Given the description of an element on the screen output the (x, y) to click on. 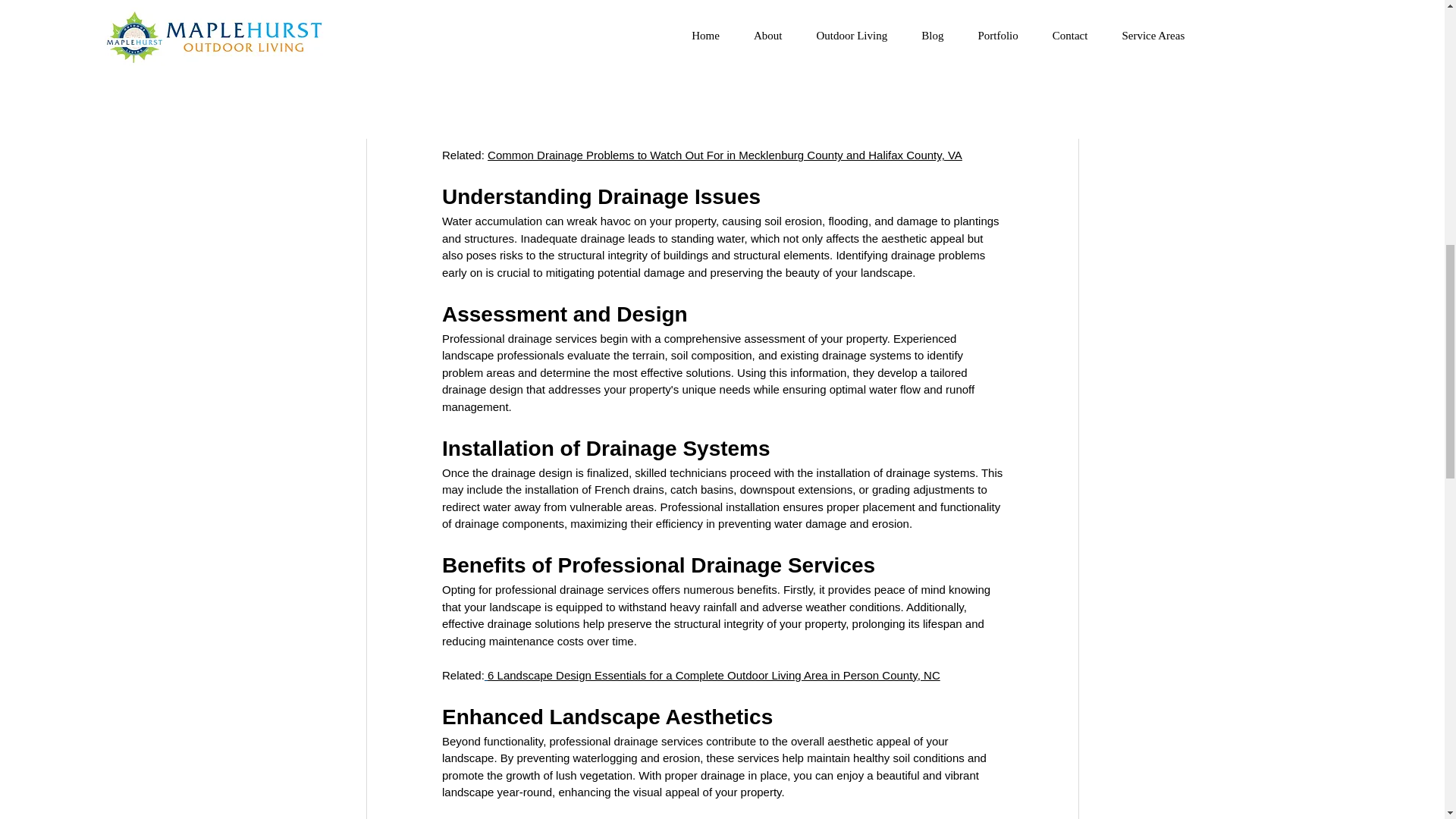
drainage services (764, 103)
Olive Hill, NC (487, 69)
Mecklenburg County, VA (612, 69)
